Given the description of an element on the screen output the (x, y) to click on. 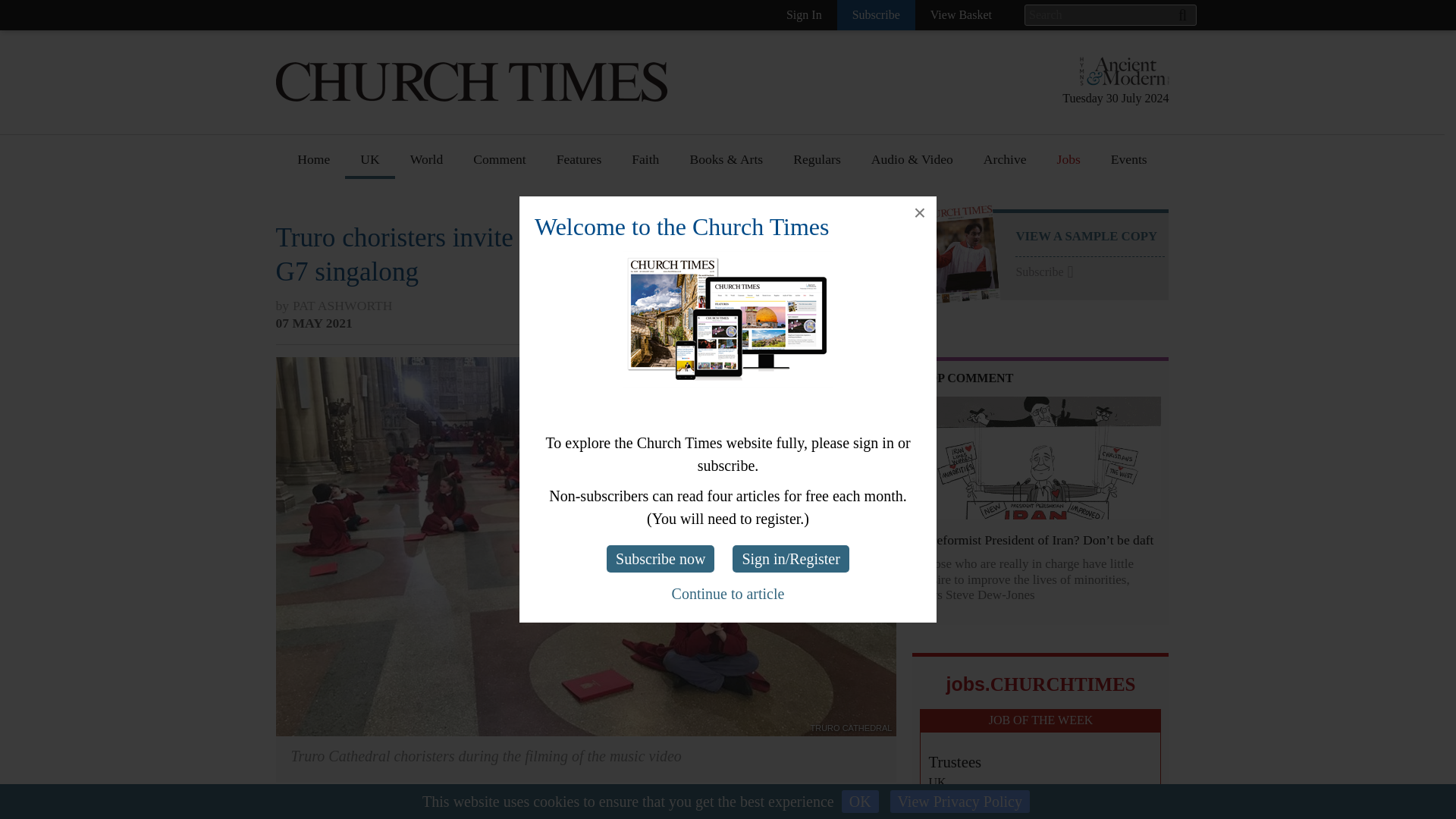
Film (702, 371)
Features (580, 204)
Performing arts (731, 343)
Leader comment (518, 232)
New titles (716, 232)
Interviews (585, 232)
Opinion (495, 204)
Faith (644, 164)
Continue to article (727, 593)
TV (698, 399)
View Basket (961, 15)
Faith features (668, 232)
Sign In (804, 15)
Visual arts (718, 287)
Features (579, 164)
